Given the description of an element on the screen output the (x, y) to click on. 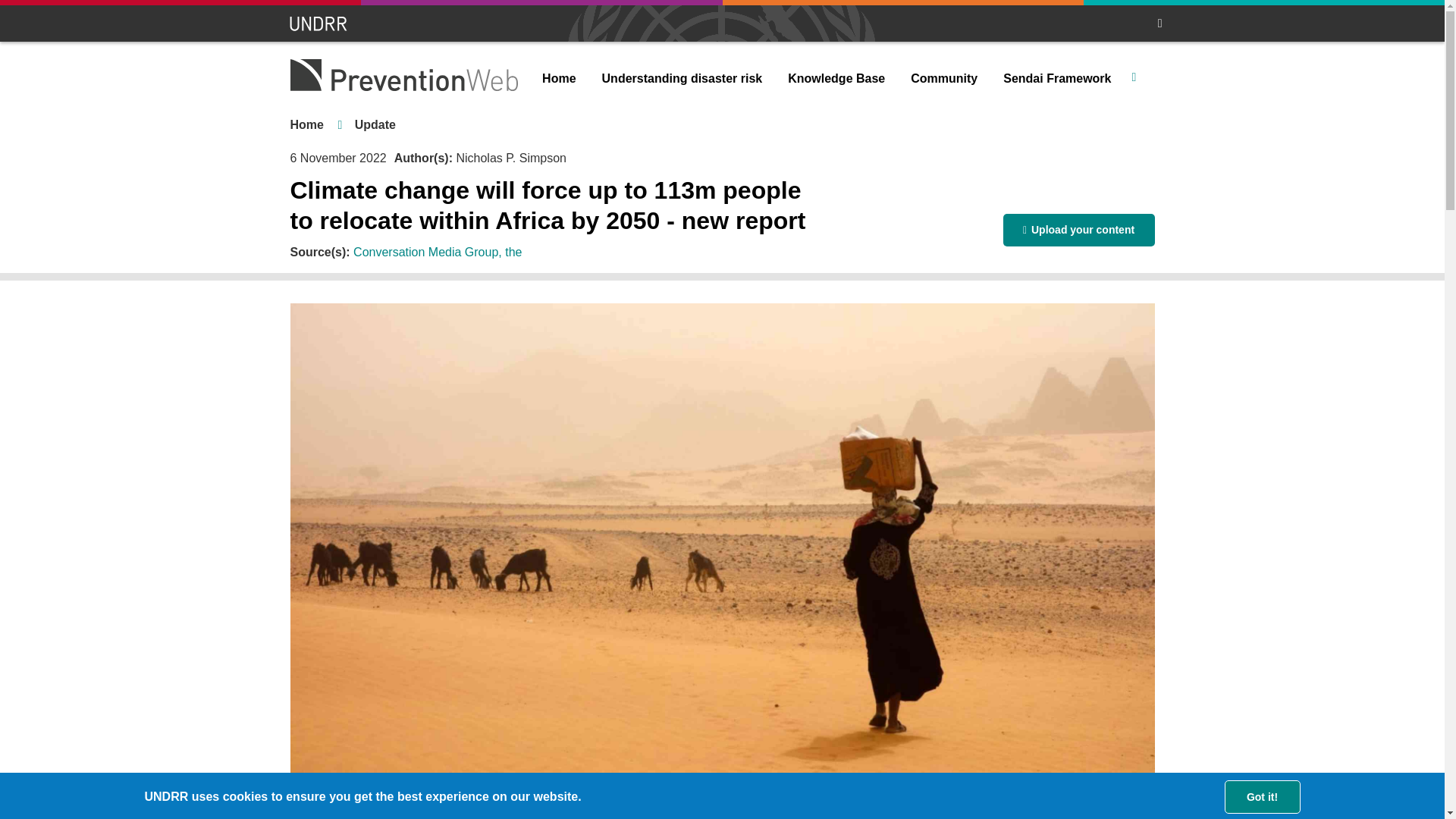
Sendai Framework (1057, 78)
Upload your content (1078, 229)
Update (375, 124)
Community (944, 78)
Home (306, 124)
UNDRR Homepage (319, 23)
Conversation Media Group, the (437, 251)
PreventionWeb Logo (402, 74)
Home (558, 78)
Understanding disaster risk (682, 78)
Knowledge Base (836, 78)
